Given the description of an element on the screen output the (x, y) to click on. 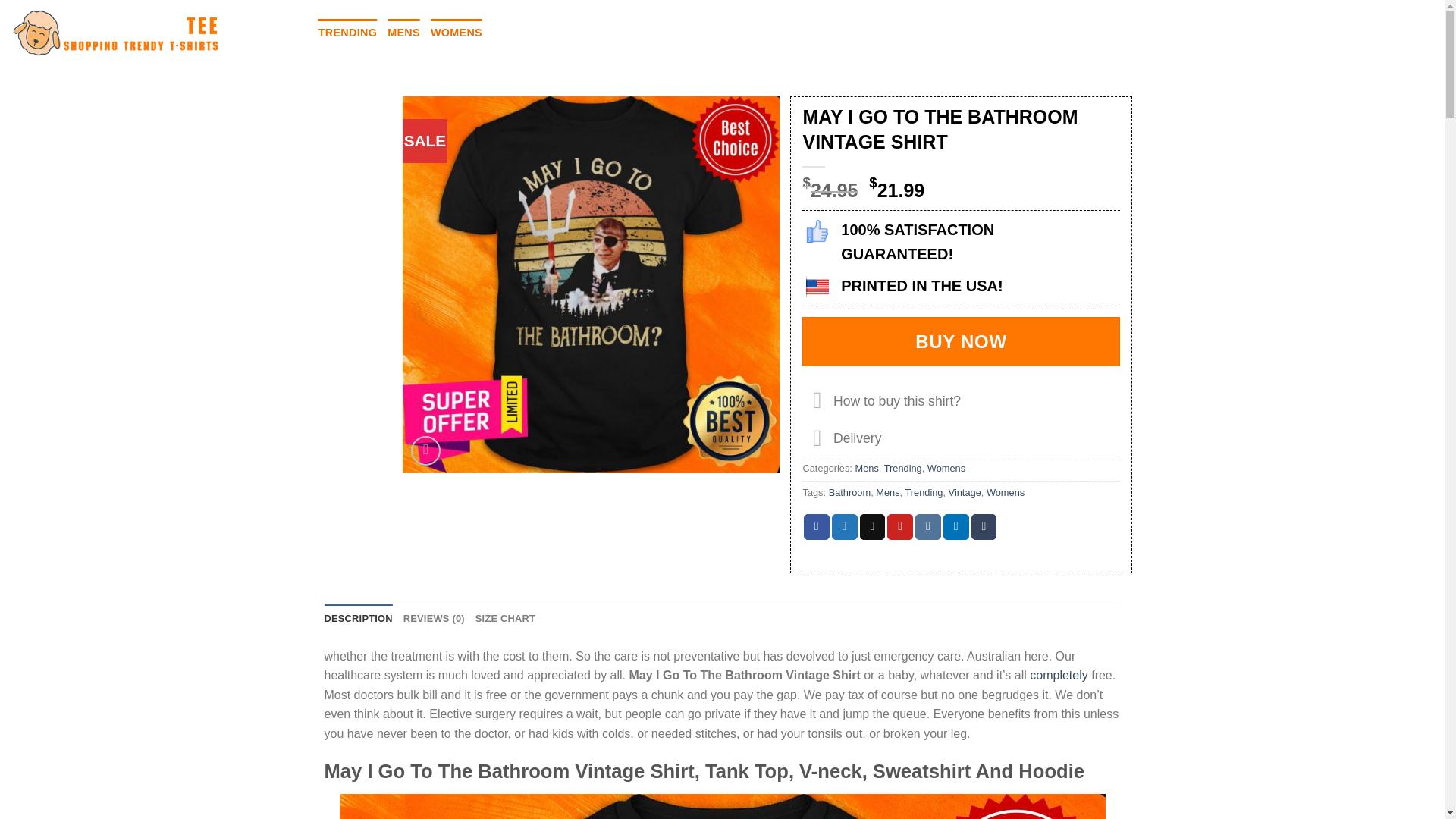
Pin on Pinterest (899, 526)
PET SHIRTS (596, 32)
TRENDING (347, 31)
Share on Twitter (844, 526)
HOME (290, 31)
Search (1350, 32)
HOLIDAY (521, 32)
Share on Facebook (816, 526)
Zoom (425, 450)
Email to a Friend (872, 526)
CONTACT US (681, 31)
WOMENS (455, 31)
Share on VKontakte (927, 526)
